Given the description of an element on the screen output the (x, y) to click on. 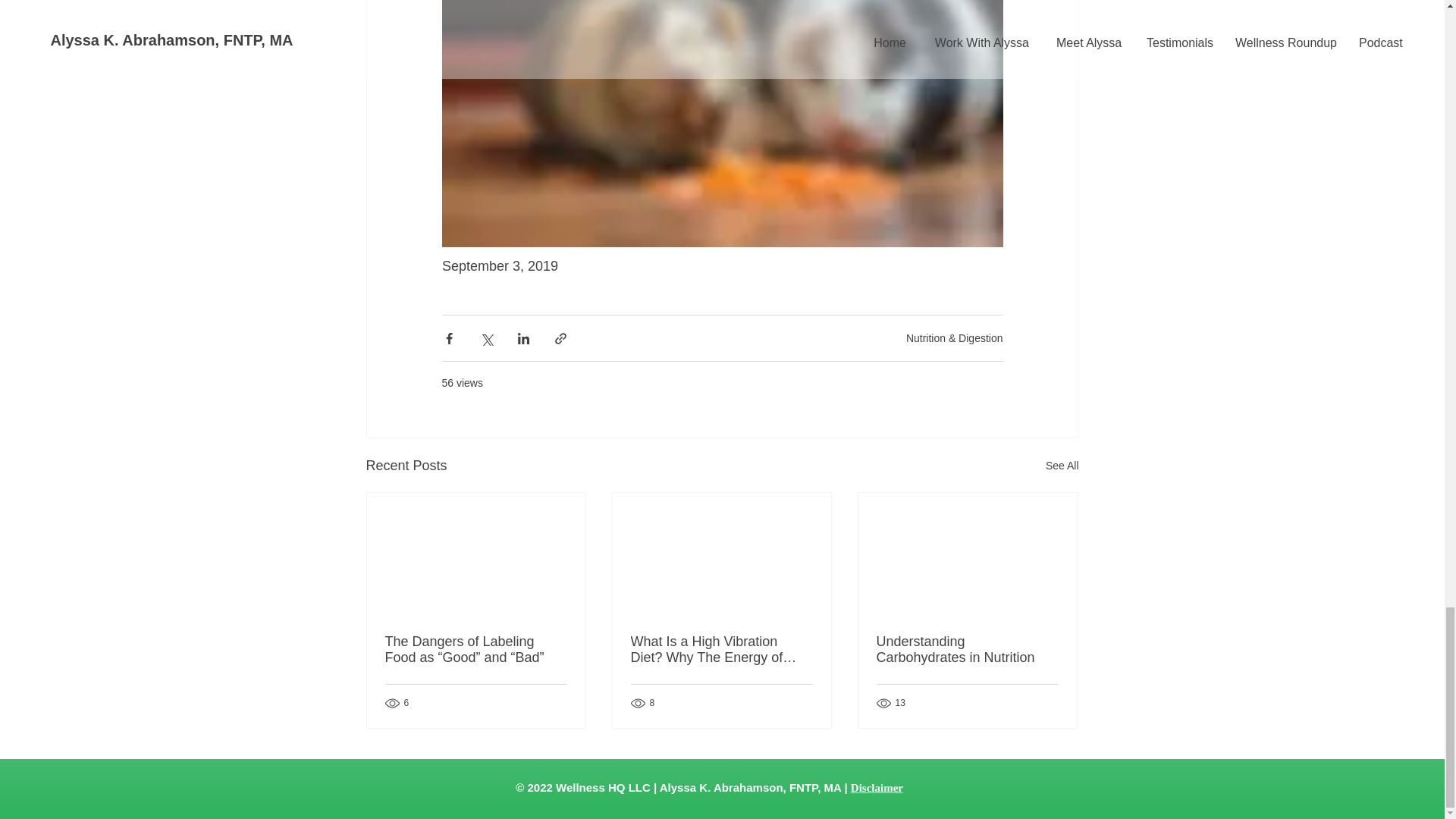
Disclaimer (876, 787)
Understanding Carbohydrates in Nutrition (967, 649)
See All (1061, 465)
